Given the description of an element on the screen output the (x, y) to click on. 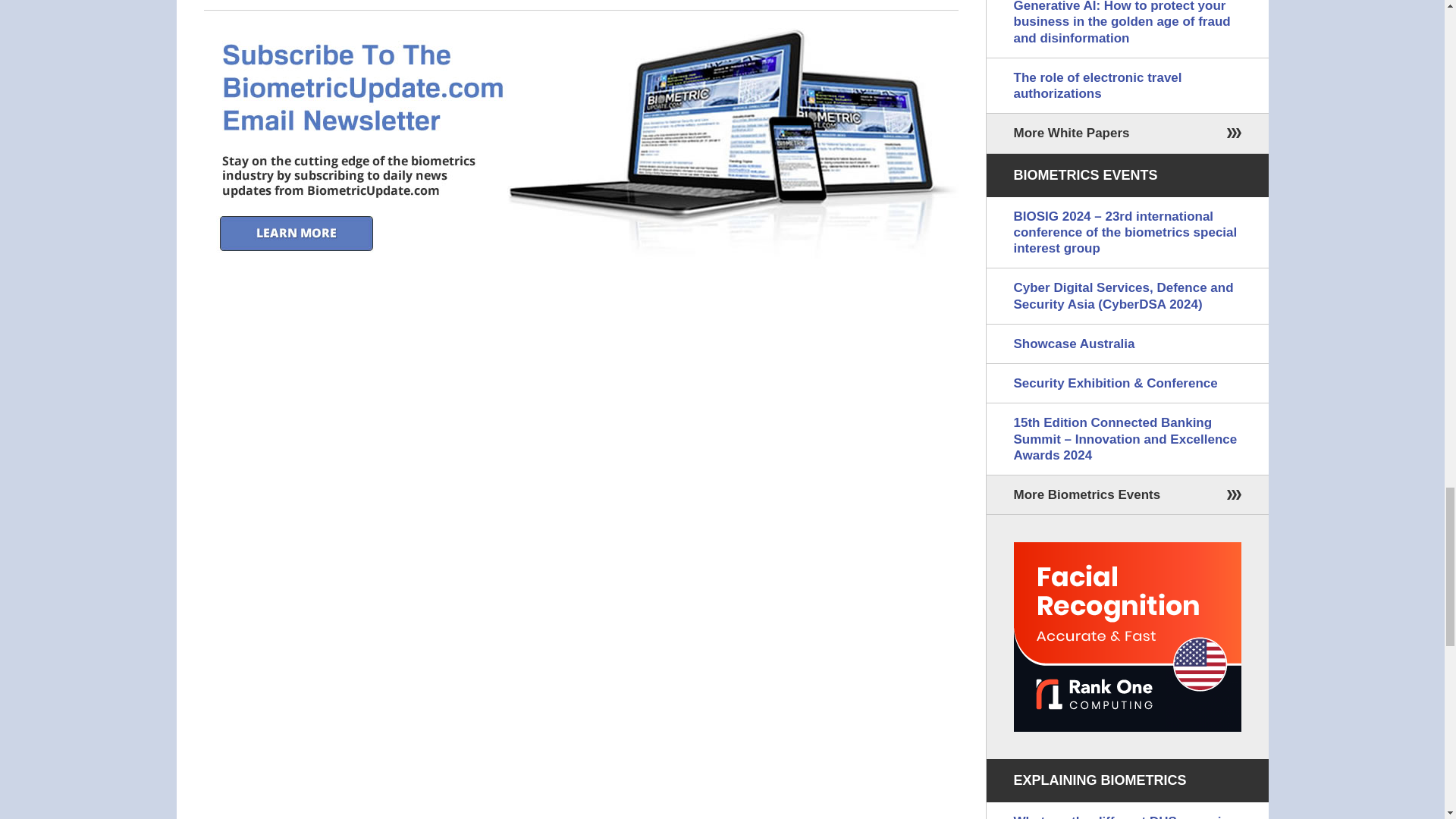
3rd party ad content (1126, 637)
